Given the description of an element on the screen output the (x, y) to click on. 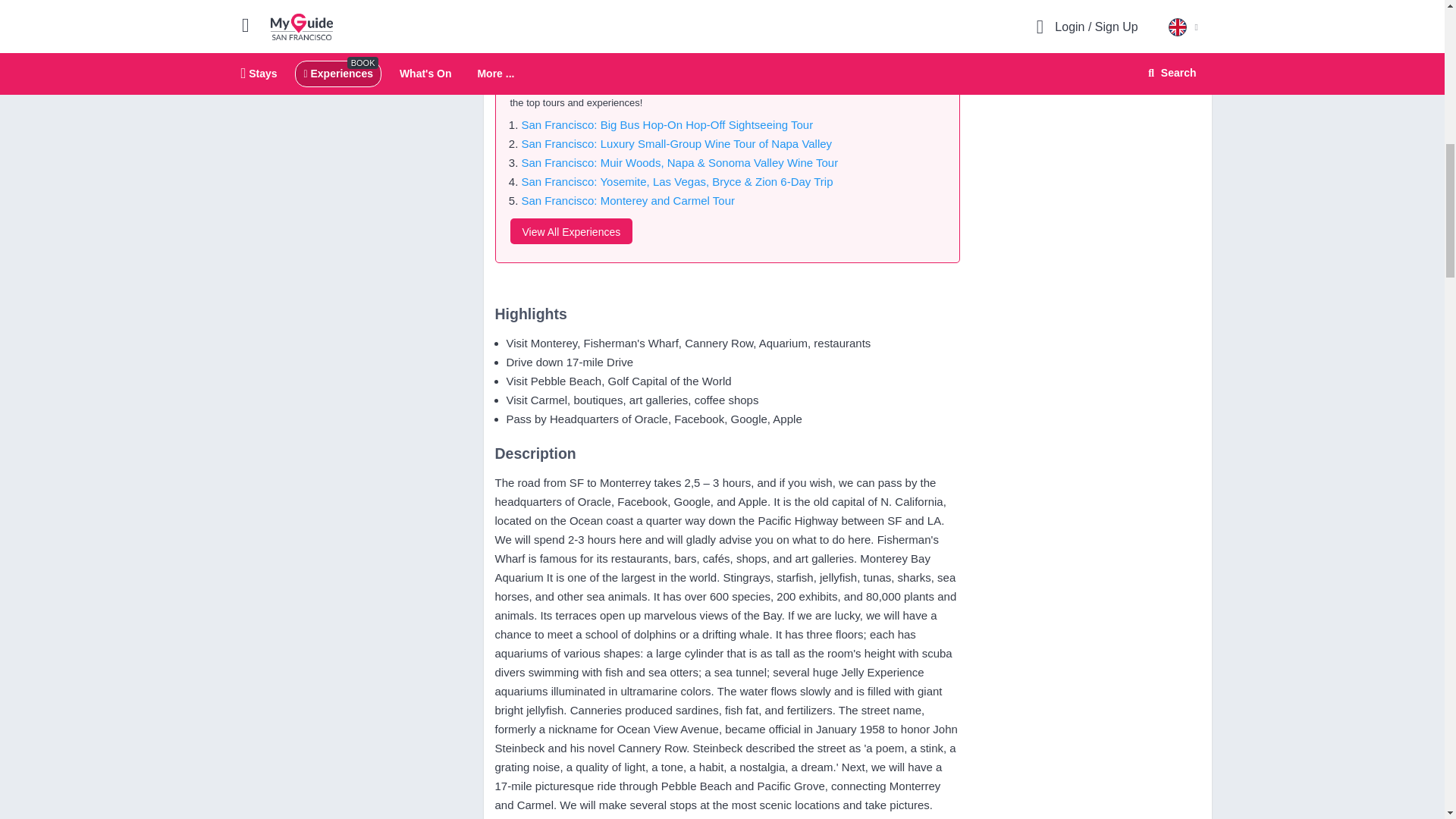
View All Experiences (570, 231)
GetYourGuide Widget (1087, 21)
